Given the description of an element on the screen output the (x, y) to click on. 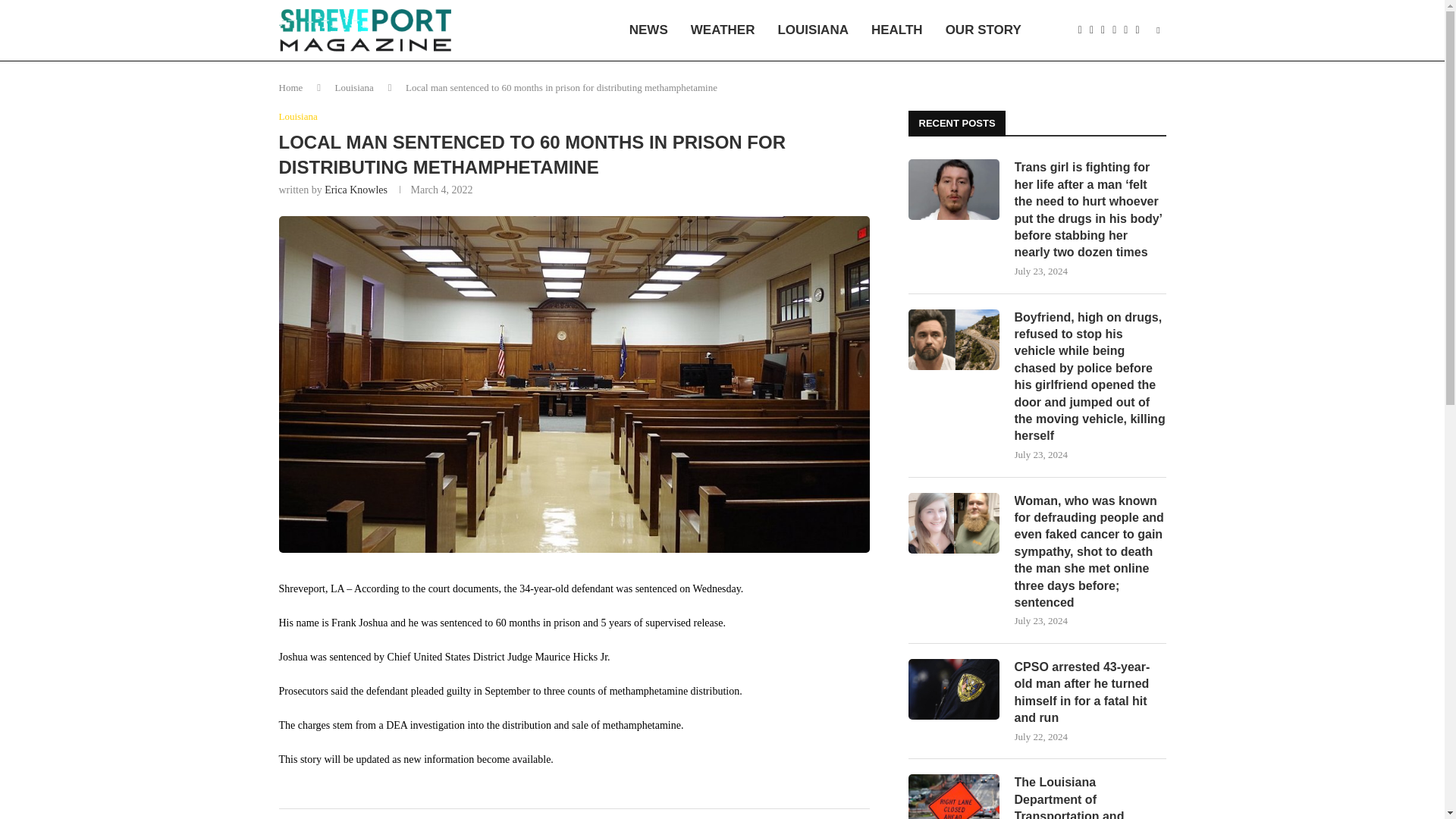
HEALTH (897, 30)
Louisiana (298, 116)
Erica Knowles (355, 189)
NEWS (648, 30)
WEATHER (723, 30)
Louisiana (354, 87)
LOUISIANA (812, 30)
OUR STORY (983, 30)
Home (290, 87)
